Given the description of an element on the screen output the (x, y) to click on. 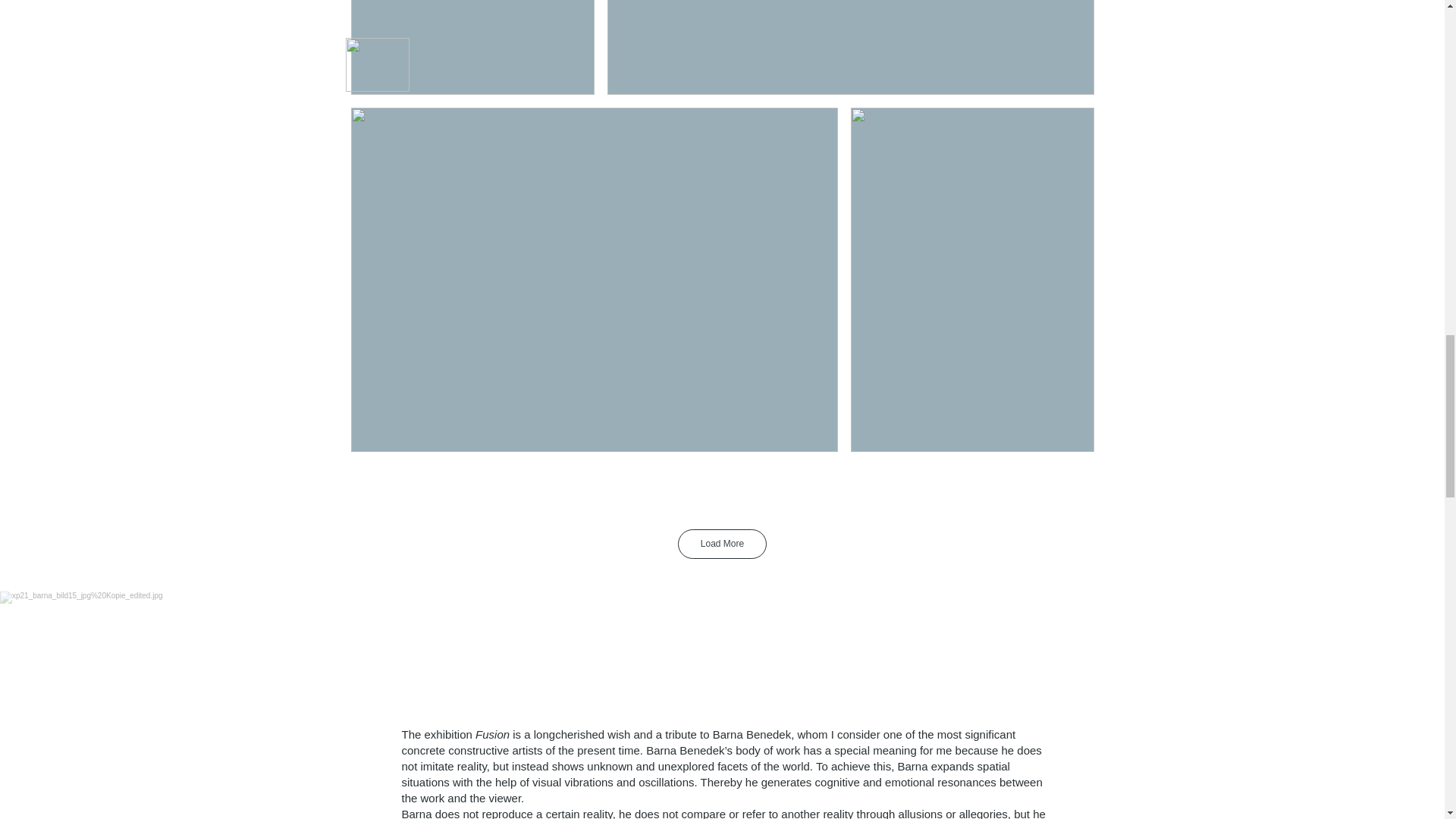
Load More (722, 543)
